Given the description of an element on the screen output the (x, y) to click on. 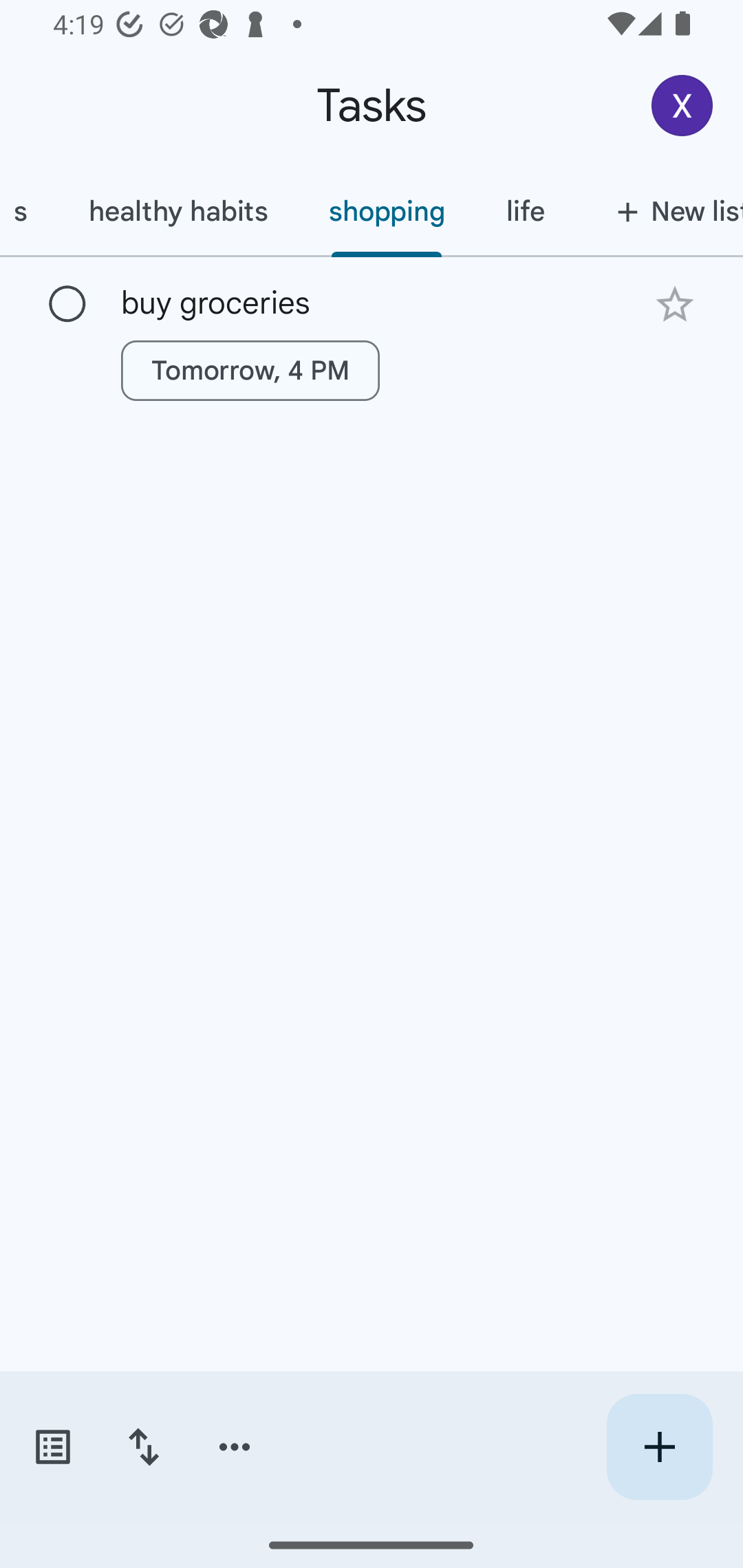
healthy habits (177, 211)
life (524, 211)
New list (658, 211)
Add star (674, 303)
Mark as complete (67, 304)
Tomorrow, 4 PM (250, 369)
Switch task lists (52, 1447)
Create new task (659, 1446)
Change sort order (143, 1446)
More options (234, 1446)
